Given the description of an element on the screen output the (x, y) to click on. 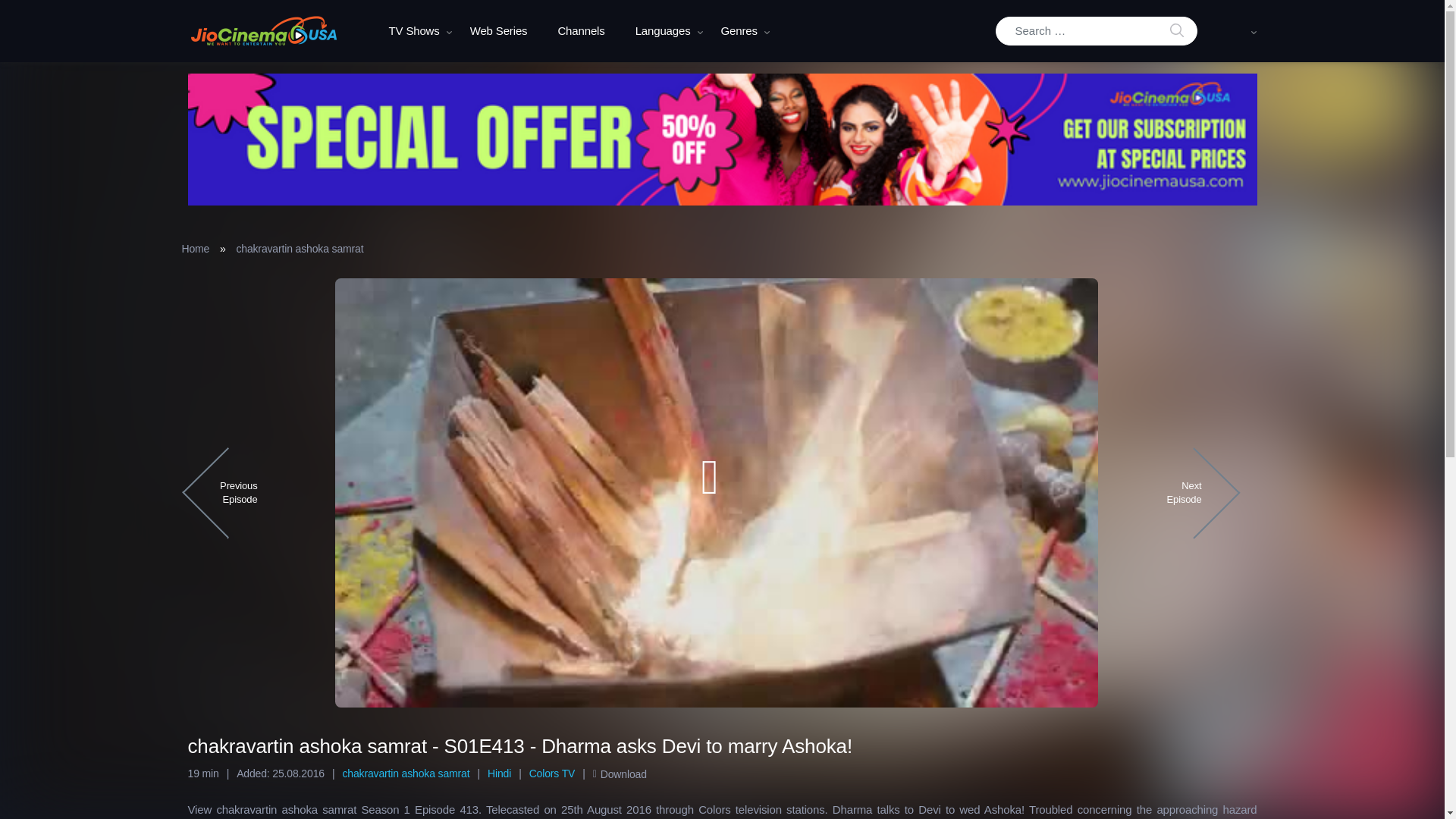
Web Series (498, 31)
Genres (739, 31)
TV Shows (413, 31)
Languages (663, 31)
Channels (580, 31)
